Given the description of an element on the screen output the (x, y) to click on. 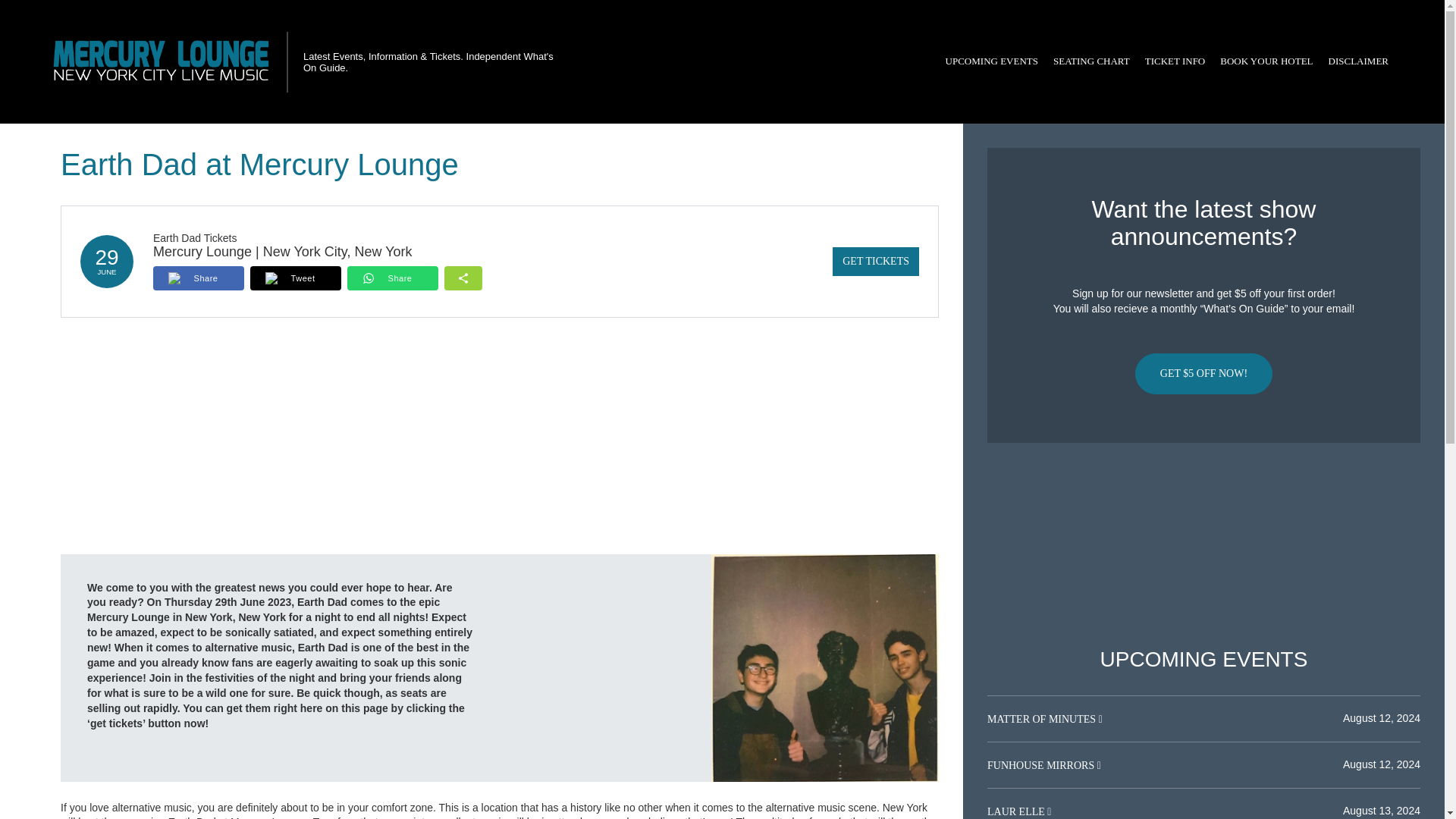
BOOK YOUR HOTEL (1266, 61)
TICKET INFO (1174, 61)
GET TICKETS (875, 261)
Earth Dad Tickets (194, 237)
SEATING CHART (1091, 61)
DISCLAIMER (1358, 61)
UPCOMING EVENTS (991, 61)
Earth Dad at Mercury Lounge (825, 667)
Advertisement (1204, 545)
